Given the description of an element on the screen output the (x, y) to click on. 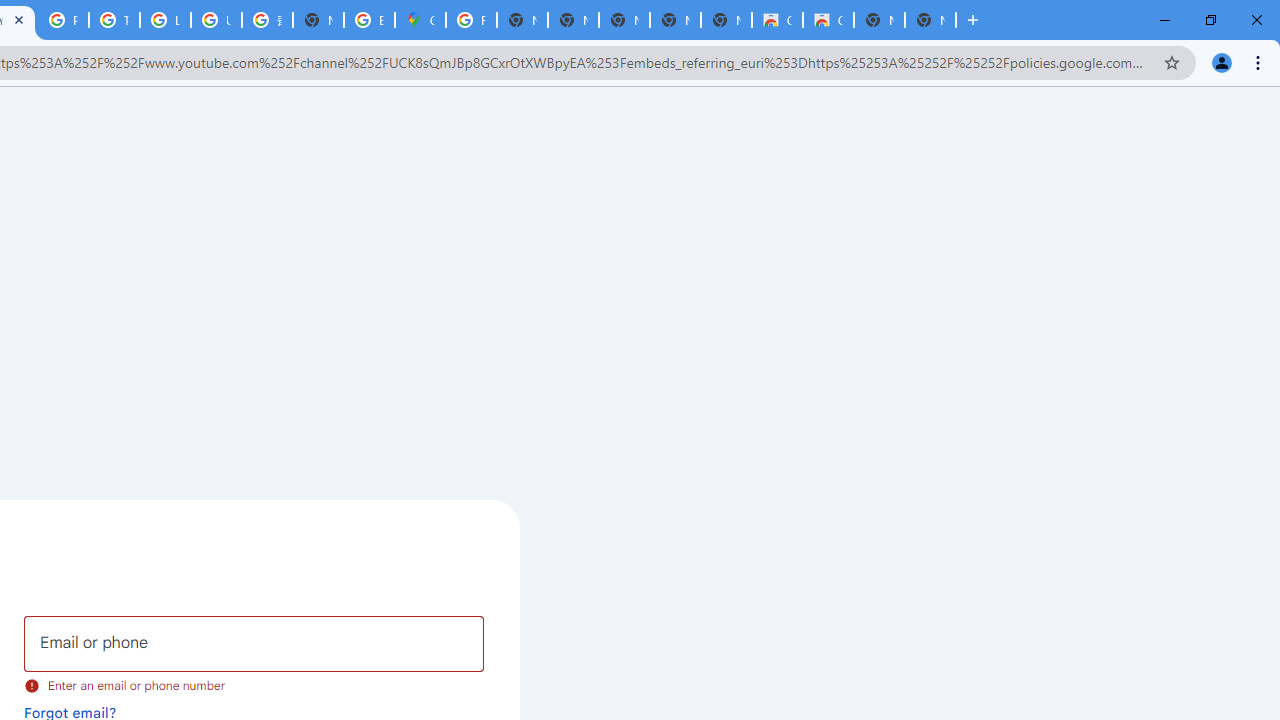
New Tab (930, 20)
Classic Blue - Chrome Web Store (776, 20)
Tips & tricks for Chrome - Google Chrome Help (113, 20)
Explore new street-level details - Google Maps Help (369, 20)
Classic Blue - Chrome Web Store (827, 20)
New Tab (318, 20)
Email or phone (253, 643)
